Given the description of an element on the screen output the (x, y) to click on. 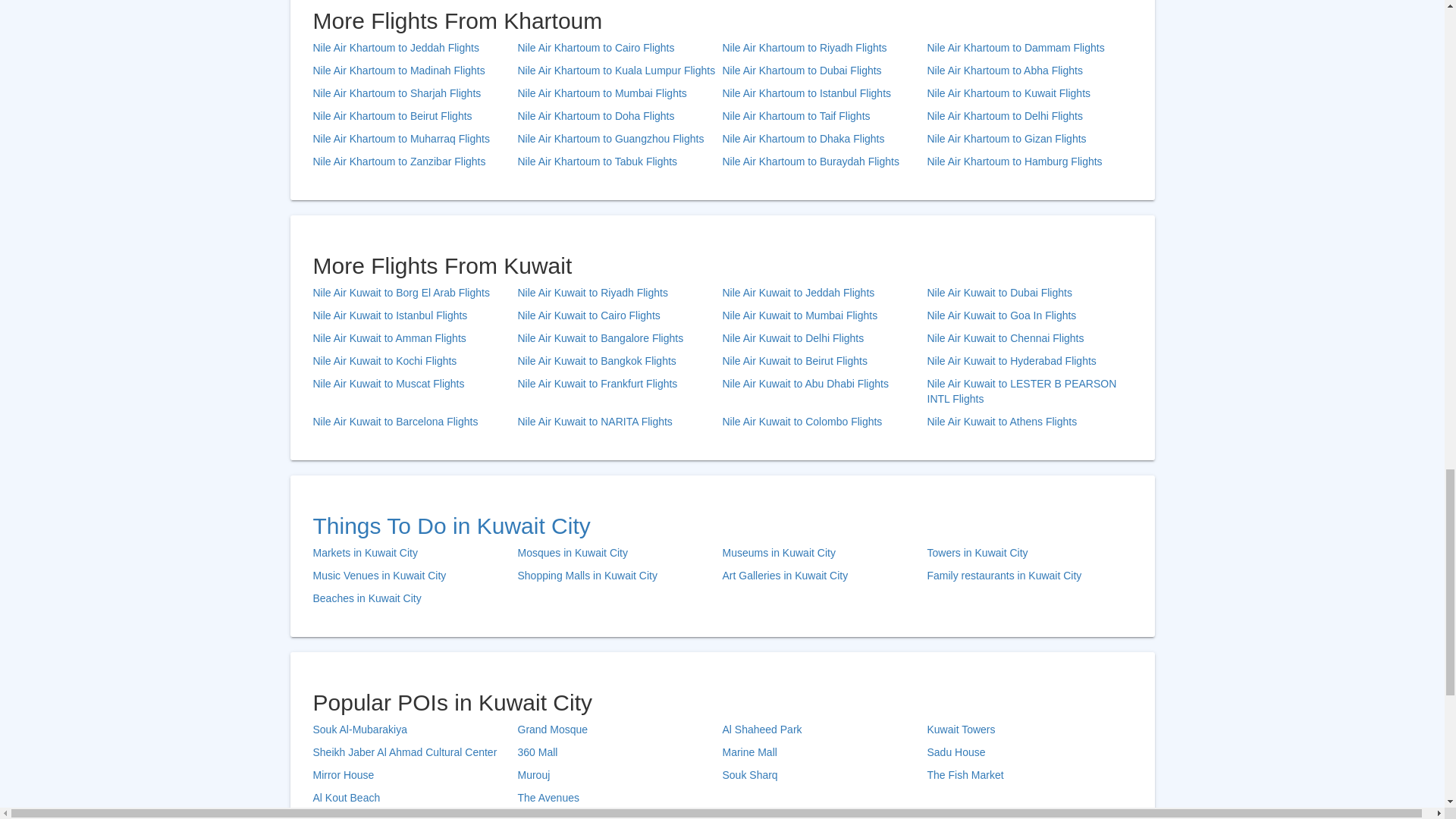
Nile Air Khartoum to Madinah Flights (414, 70)
Nile Air Khartoum to Istanbul Flights (824, 93)
Nile Air Khartoum to Dubai Flights (824, 70)
Nile Air Khartoum to Riyadh Flights (824, 48)
Nile Air Khartoum to Beirut Flights (414, 116)
Nile Air Khartoum to Cairo Flights (619, 48)
Nile Air Khartoum to Abha Flights (1028, 70)
Nile Air Khartoum to Sharjah Flights (414, 93)
Nile Air Khartoum to Jeddah Flights (414, 48)
Nile Air Khartoum to Kuwait Flights (1028, 93)
